Given the description of an element on the screen output the (x, y) to click on. 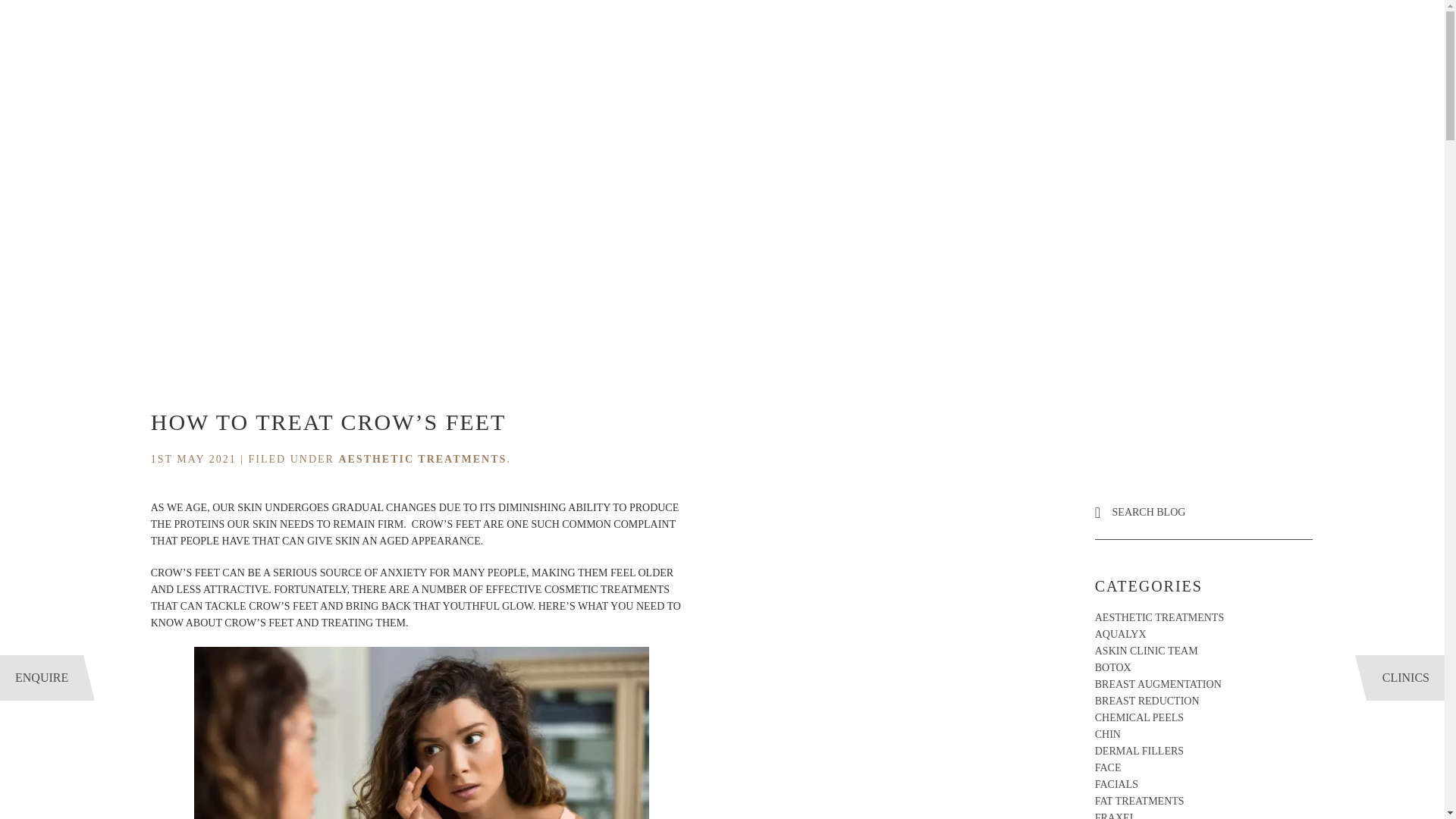
TREATMENTS (167, 33)
ABOUT (1050, 33)
NEWS (1241, 33)
SKINHEALTH (1147, 33)
ENQUIRE (41, 677)
CONDITIONS (60, 33)
CONTACT US (1331, 33)
